Given the description of an element on the screen output the (x, y) to click on. 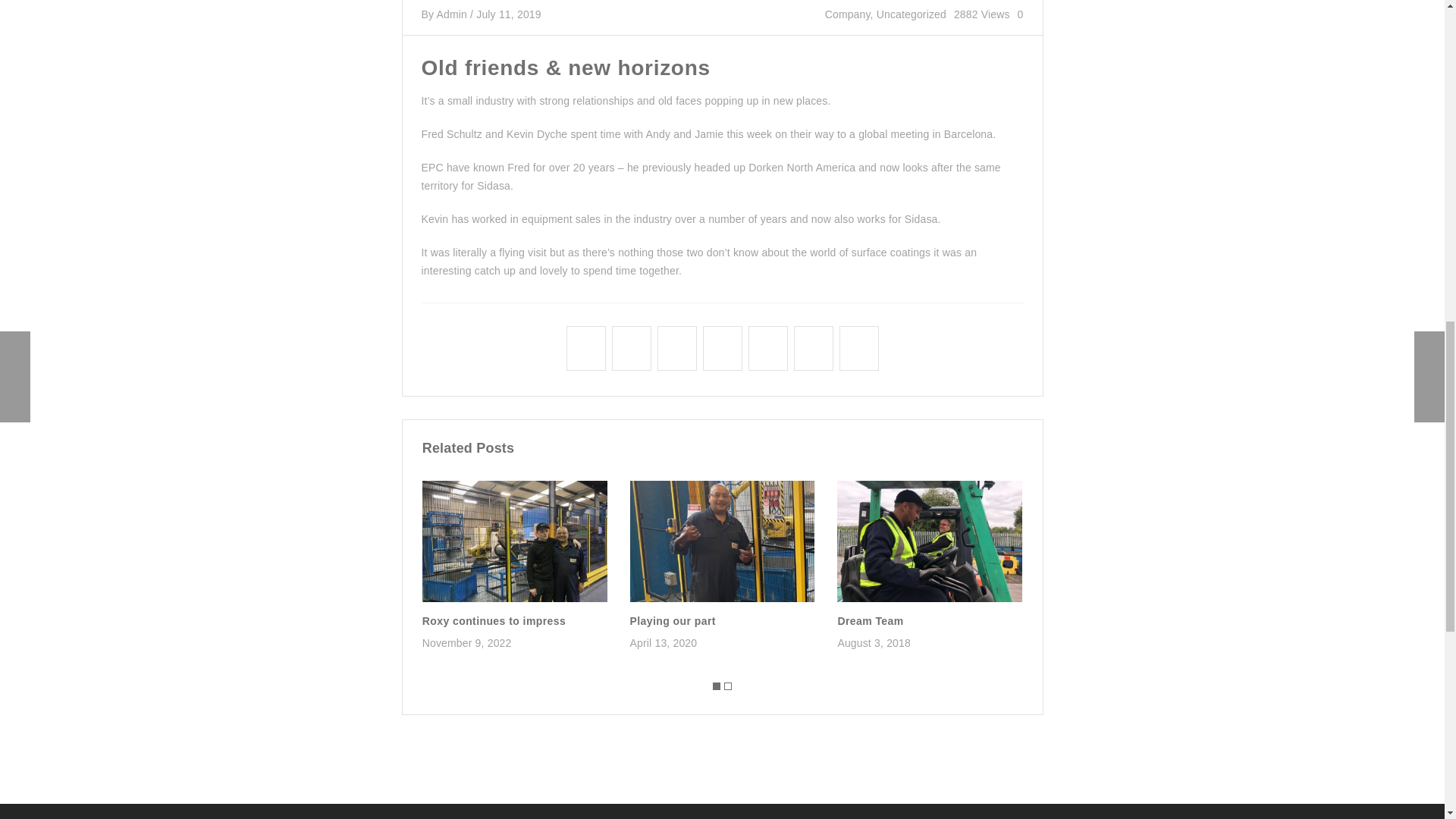
Company (847, 14)
Admin (451, 14)
Uncategorized (911, 14)
